Given the description of an element on the screen output the (x, y) to click on. 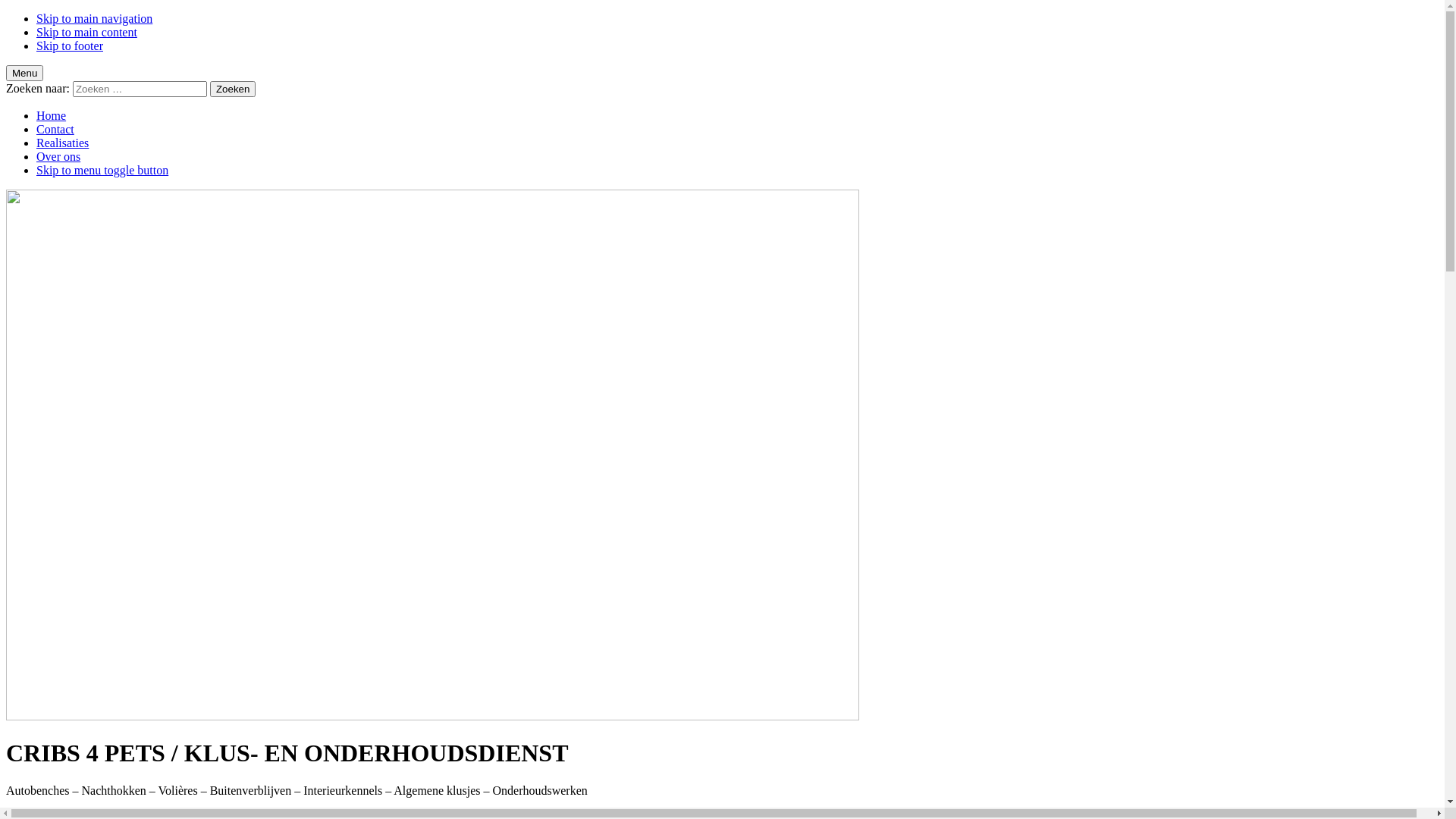
Skip to footer Element type: text (69, 45)
Contact Element type: text (55, 128)
Skip to menu toggle button Element type: text (102, 169)
Skip to main content Element type: text (86, 31)
Home Element type: text (50, 115)
Zoeken Element type: text (232, 89)
Over ons Element type: text (58, 156)
Skip to main navigation Element type: text (94, 18)
Realisaties Element type: text (62, 142)
Menu Element type: text (24, 73)
